Given the description of an element on the screen output the (x, y) to click on. 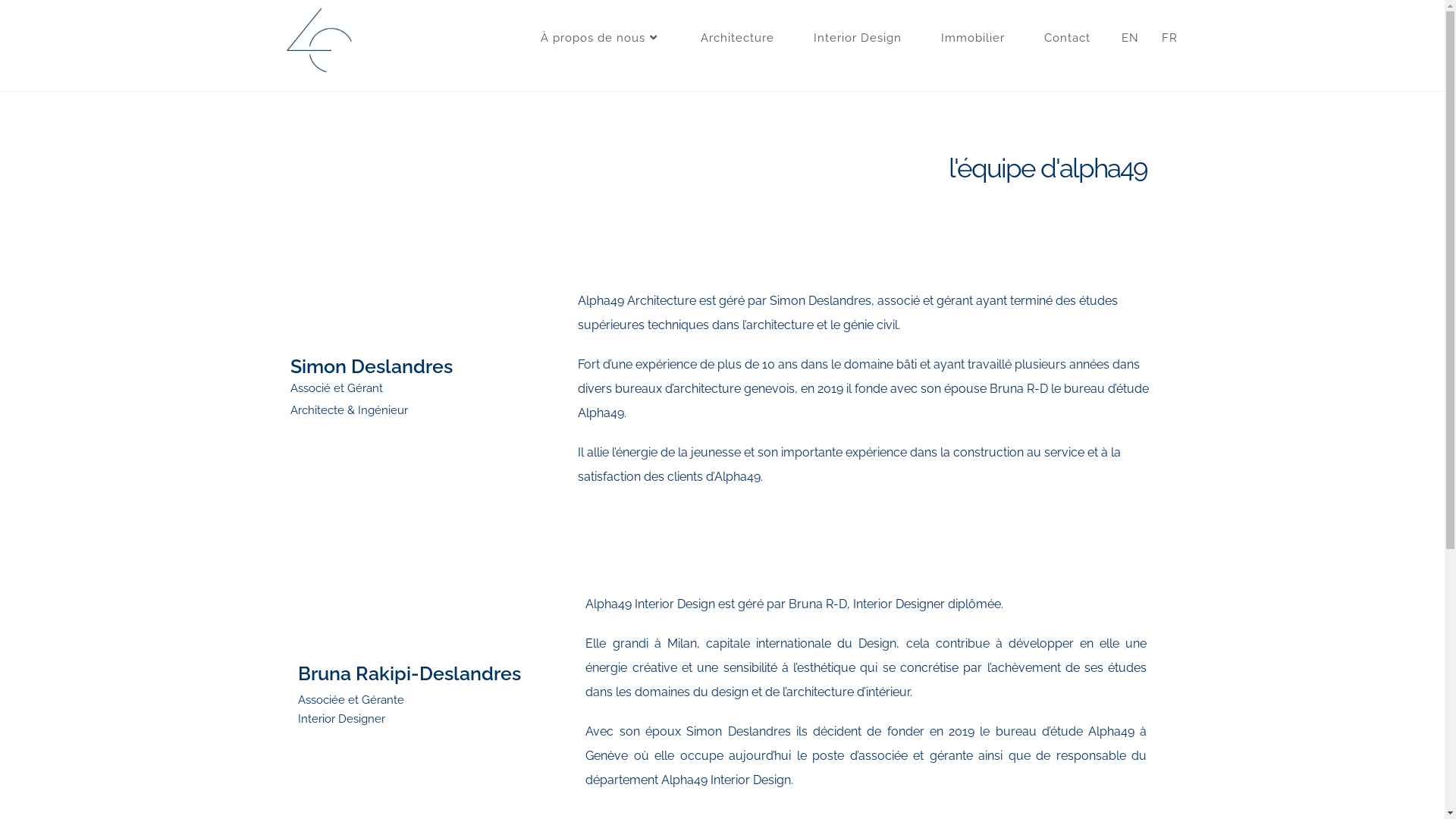
Contact Element type: text (1066, 37)
EN Element type: text (1130, 37)
Interior Design Element type: text (856, 37)
FR Element type: text (1168, 37)
Architecture Element type: text (736, 37)
Immobilier Element type: text (971, 37)
